Given the description of an element on the screen output the (x, y) to click on. 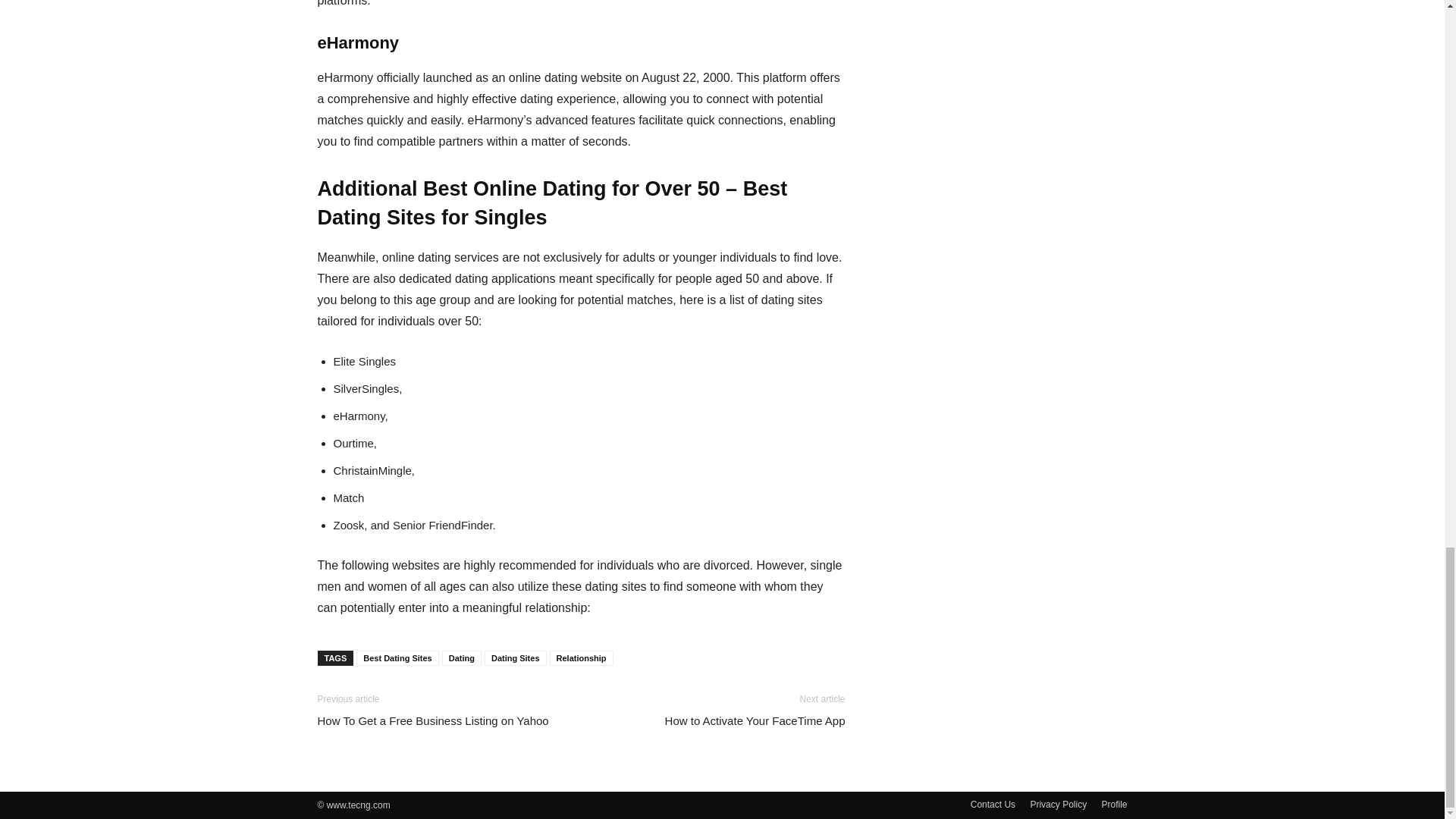
Best Dating Sites (397, 657)
Dating (461, 657)
